Given the description of an element on the screen output the (x, y) to click on. 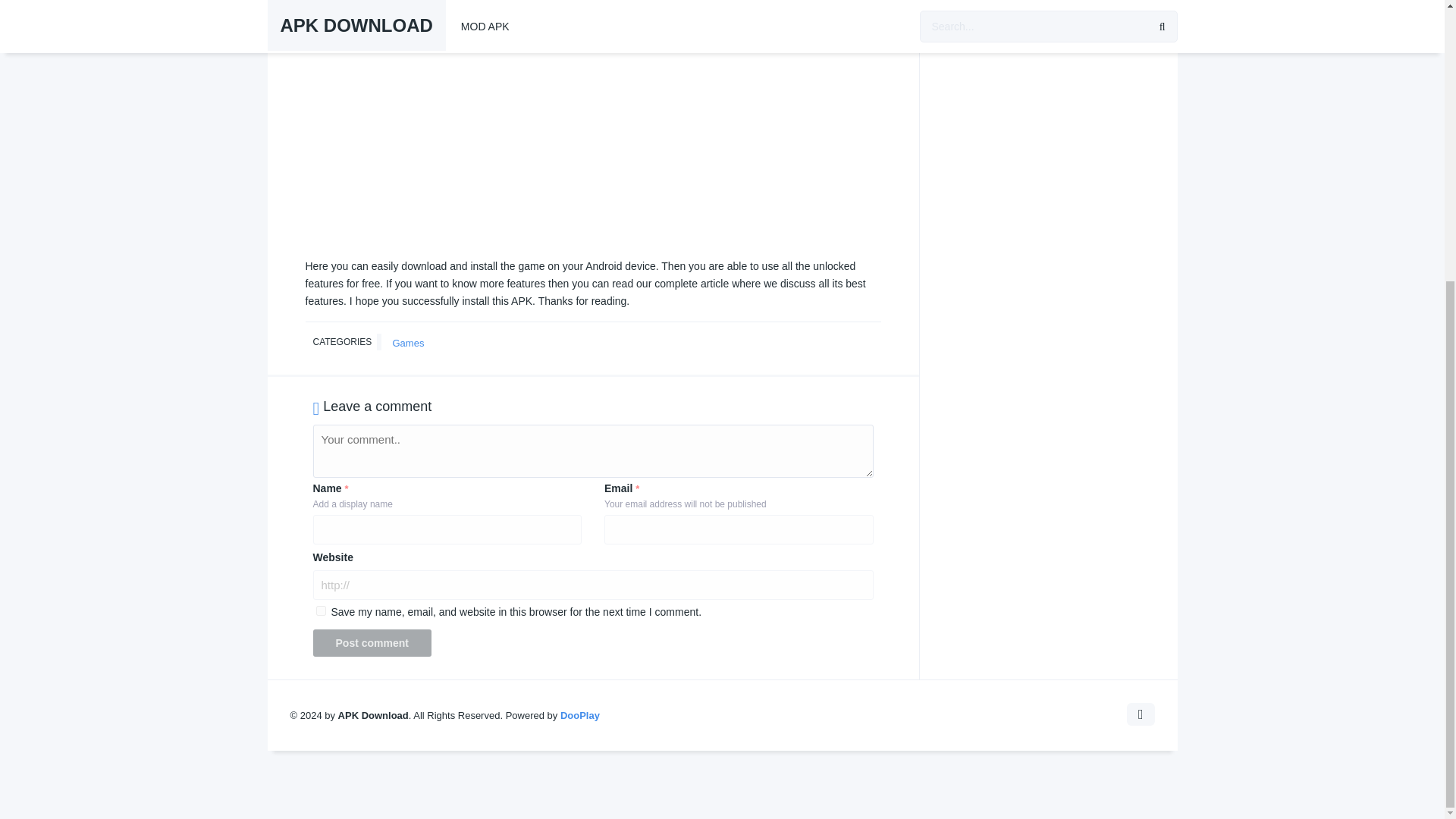
Post comment (371, 642)
Advertisement (592, 145)
yes (319, 610)
Games (408, 342)
DooPlay (579, 715)
Post comment (371, 642)
